Given the description of an element on the screen output the (x, y) to click on. 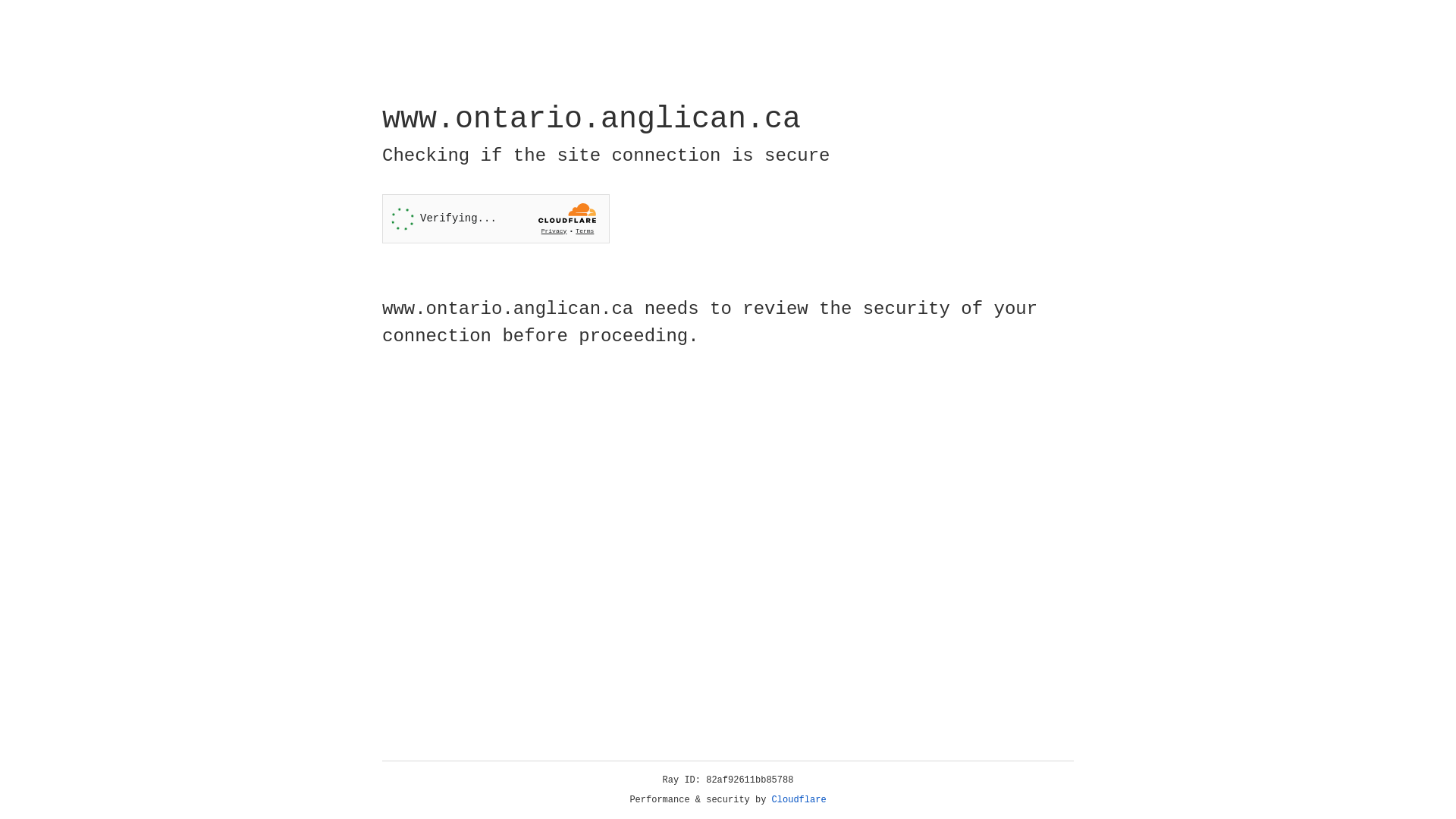
Cloudflare Element type: text (798, 799)
Widget containing a Cloudflare security challenge Element type: hover (495, 218)
